Given the description of an element on the screen output the (x, y) to click on. 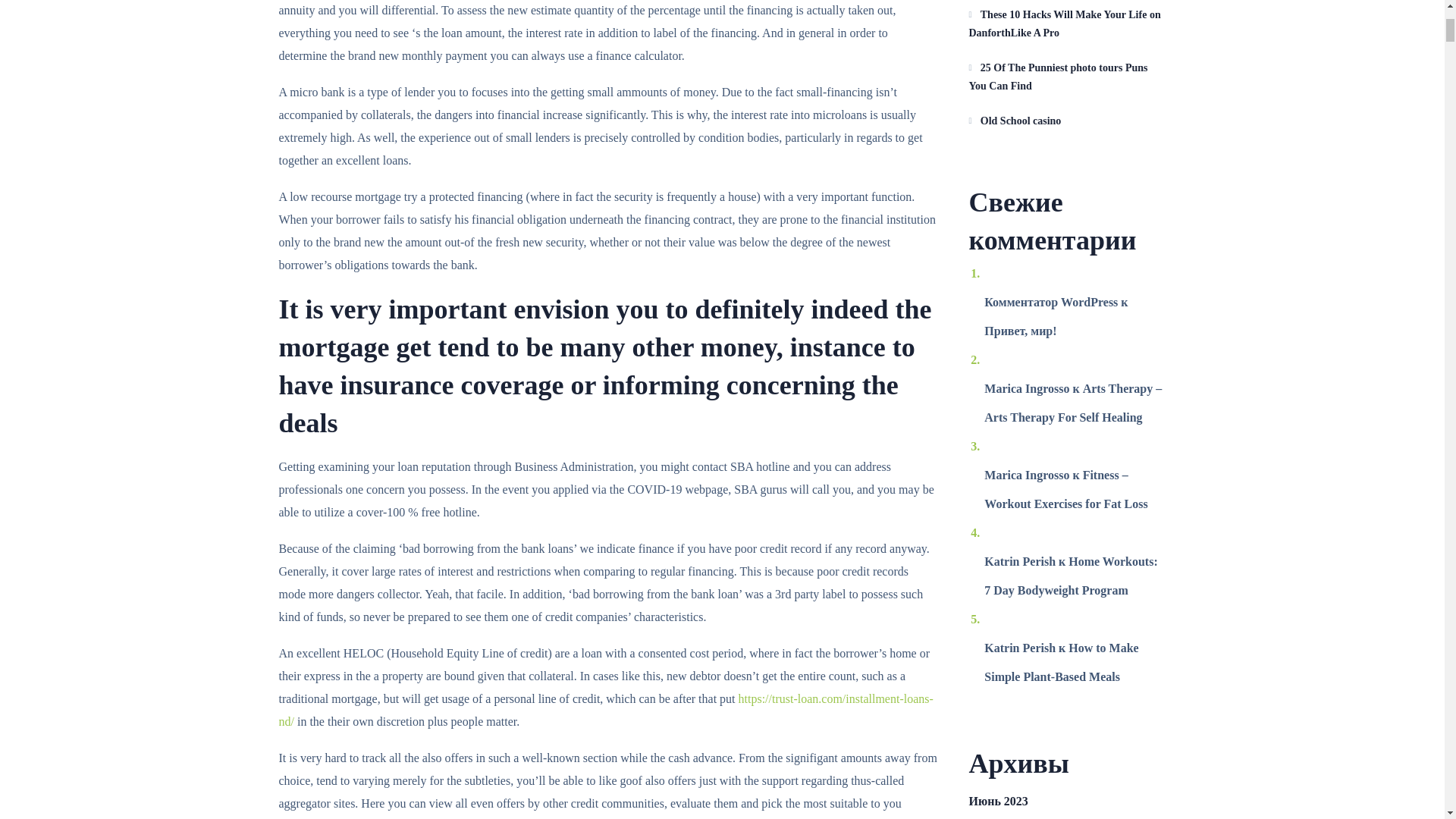
Old School casino (1067, 121)
These 10 Hacks Will Make Your Life on DanforthLike A Pro (1067, 23)
25 Of The Punniest photo tours Puns You Can Find (1067, 76)
